Given the description of an element on the screen output the (x, y) to click on. 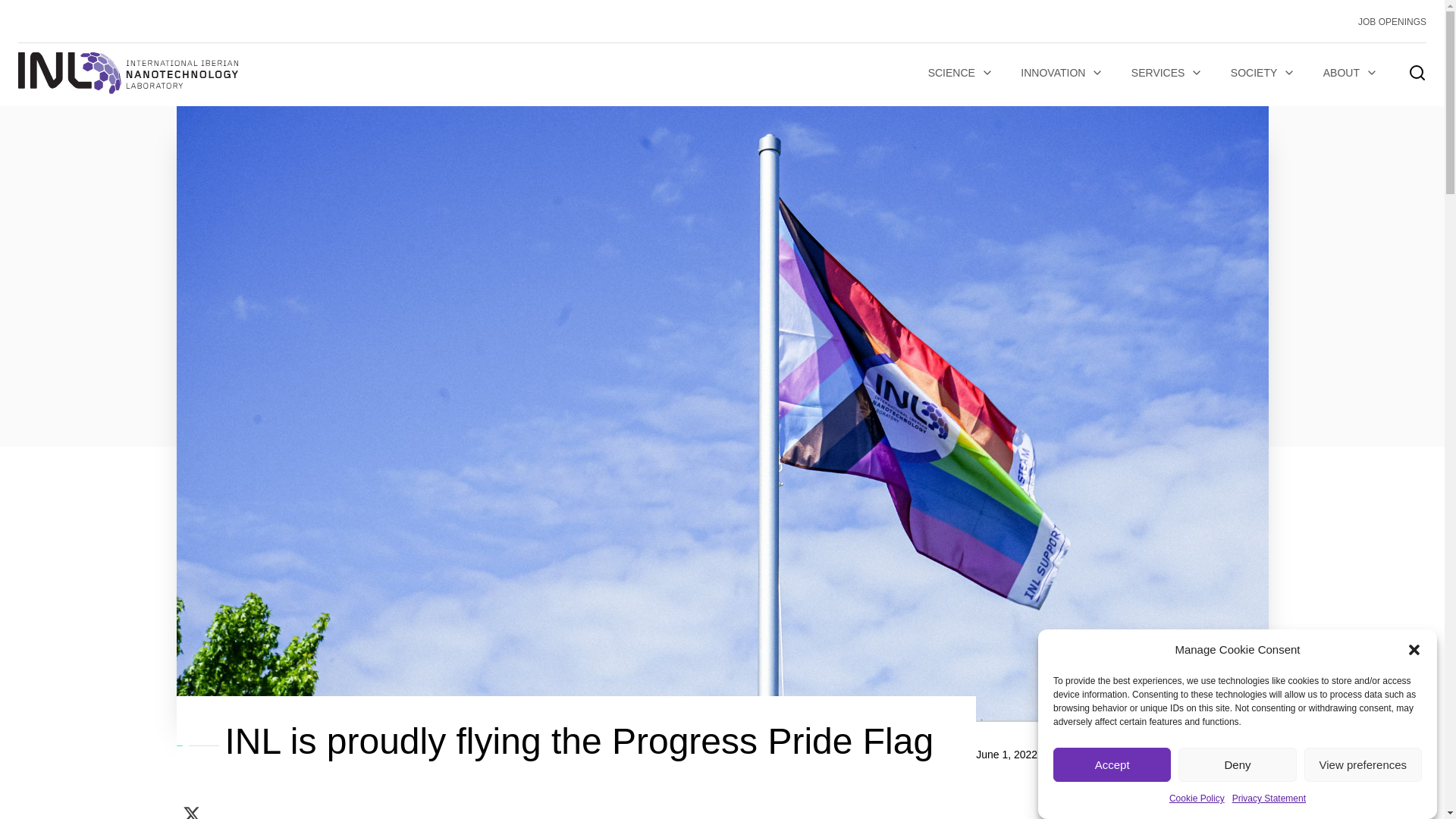
SOCIETY (1262, 72)
Share on Twitter (191, 809)
SERVICES (1167, 72)
INNOVATION (1062, 72)
Subscribe (331, 589)
INL home (127, 73)
SCIENCE (960, 72)
